Given the description of an element on the screen output the (x, y) to click on. 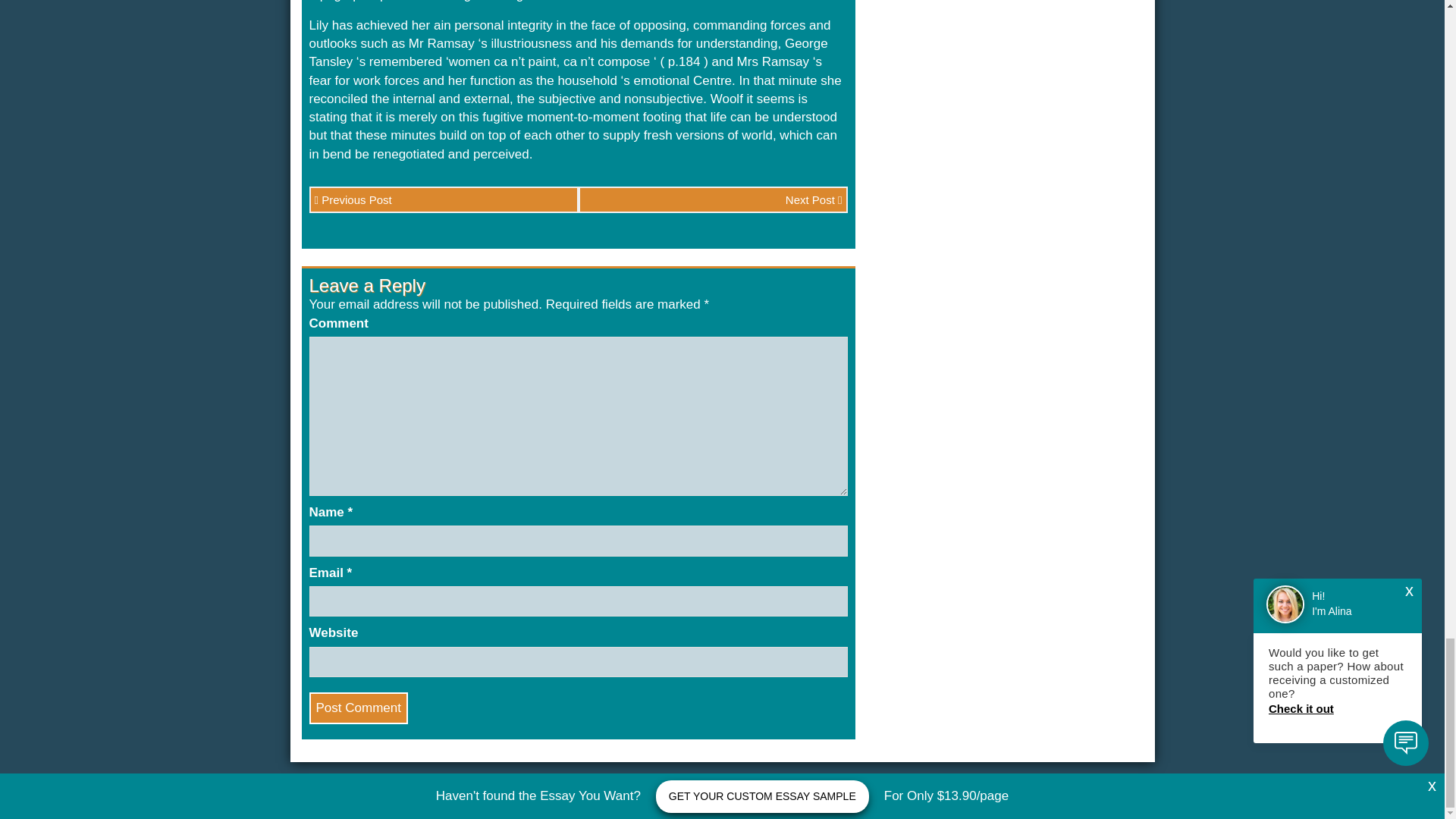
Previous Post (443, 199)
WP3Layouts (1113, 802)
Next Post (712, 199)
Stiff (1046, 802)
Post Comment (357, 707)
Post Comment (357, 707)
